Given the description of an element on the screen output the (x, y) to click on. 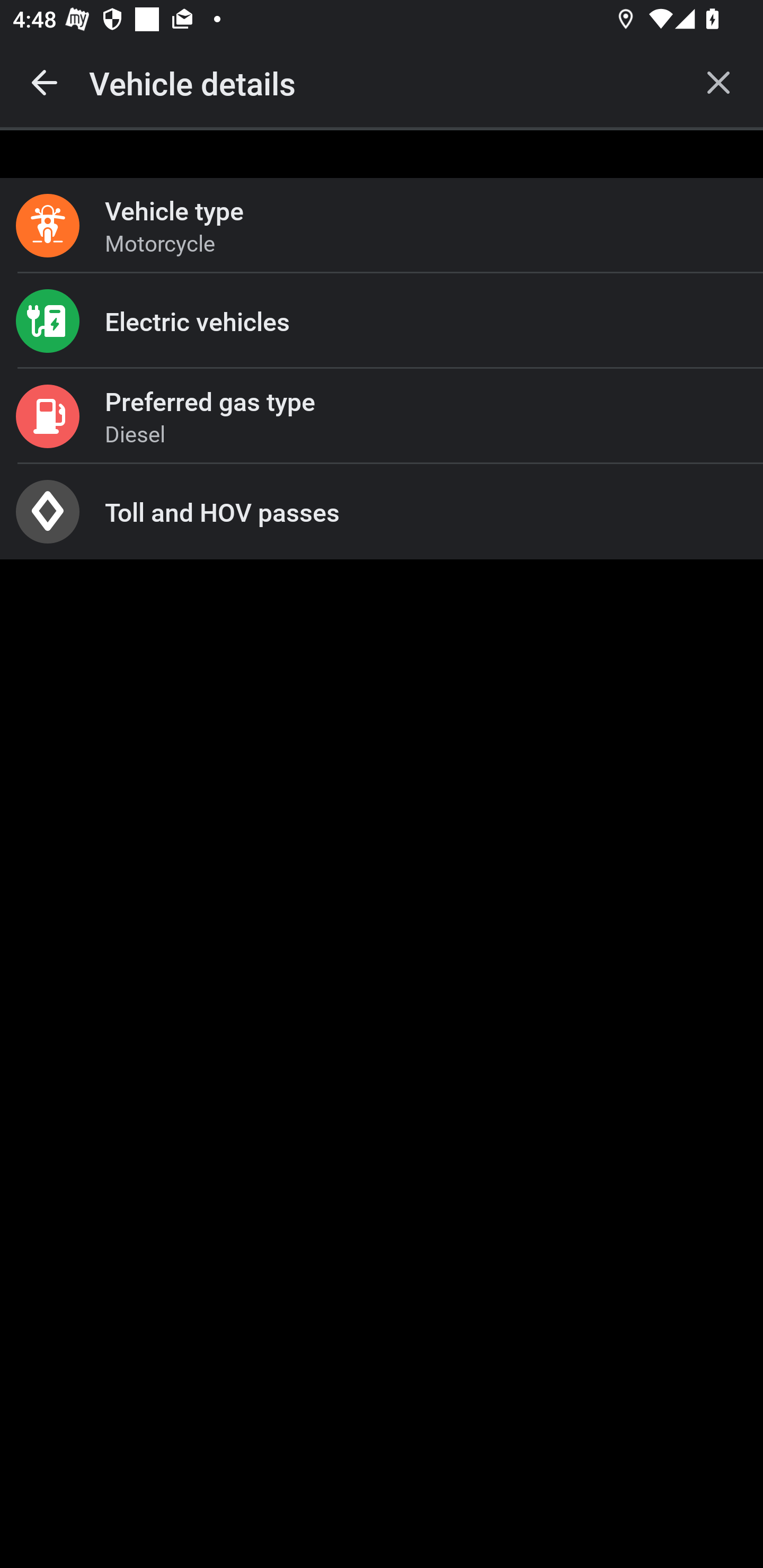
Vehicle type Motorcycle (381, 225)
Electric vehicles (381, 320)
Preferred gas type Diesel (381, 416)
Toll and HOV passes (381, 511)
